Given the description of an element on the screen output the (x, y) to click on. 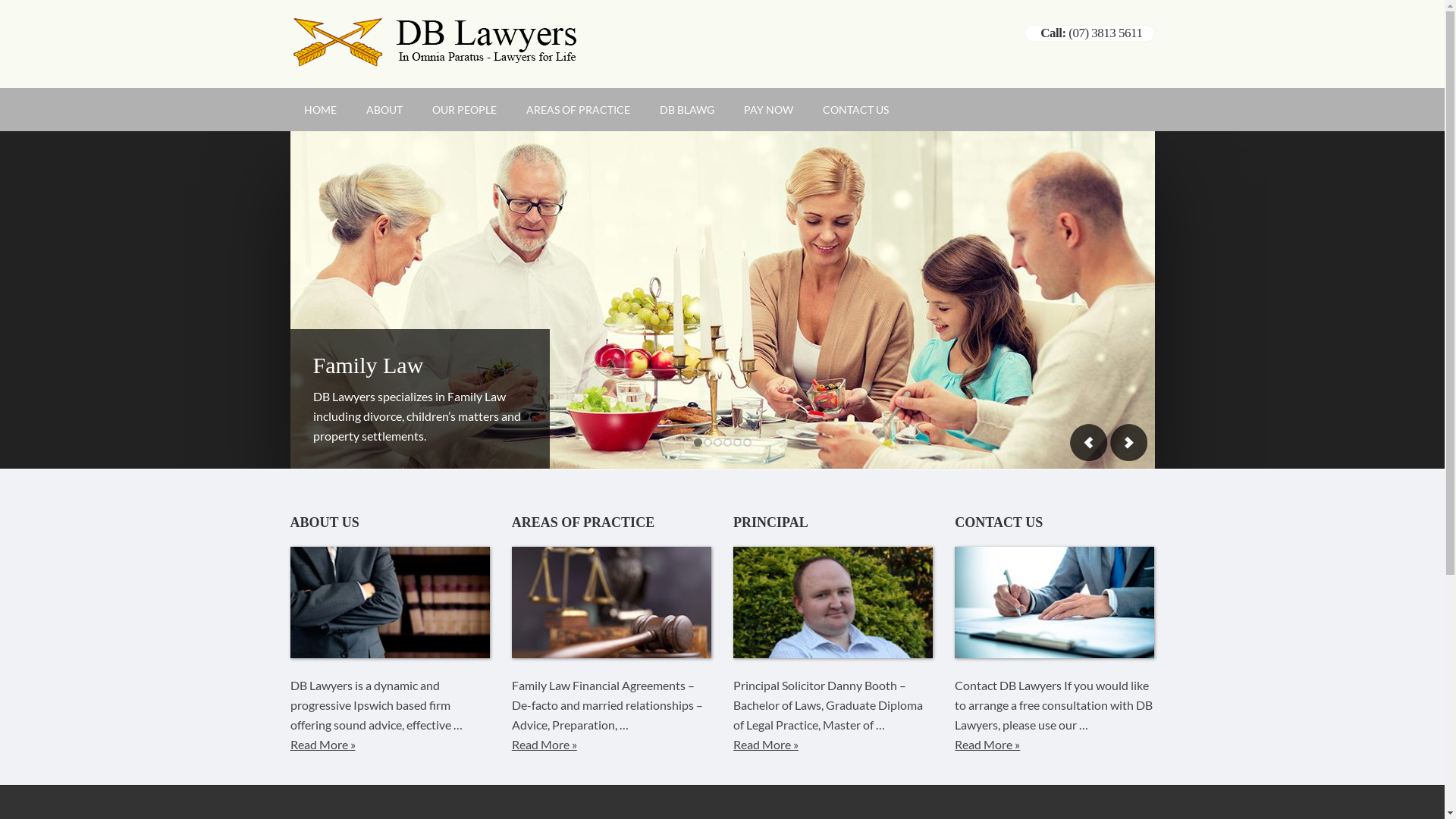
1 Element type: text (697, 443)
AREAS OF PRACTICE Element type: text (577, 109)
PAY NOW Element type: text (767, 109)
6 Element type: text (746, 443)
DB BLAWG Element type: text (687, 109)
2 Element type: text (707, 443)
Call: (07) 3813 5611 Element type: text (1091, 32)
3 Element type: text (717, 443)
4 Element type: text (726, 443)
DB Lawyers Element type: hover (434, 56)
Previous Element type: text (1088, 442)
5 Element type: text (737, 443)
Next Element type: text (1127, 442)
OUR PEOPLE Element type: text (464, 109)
CONTACT US Element type: text (854, 109)
ABOUT Element type: text (383, 109)
HOME Element type: text (319, 109)
Family Law Element type: text (367, 364)
